Given the description of an element on the screen output the (x, y) to click on. 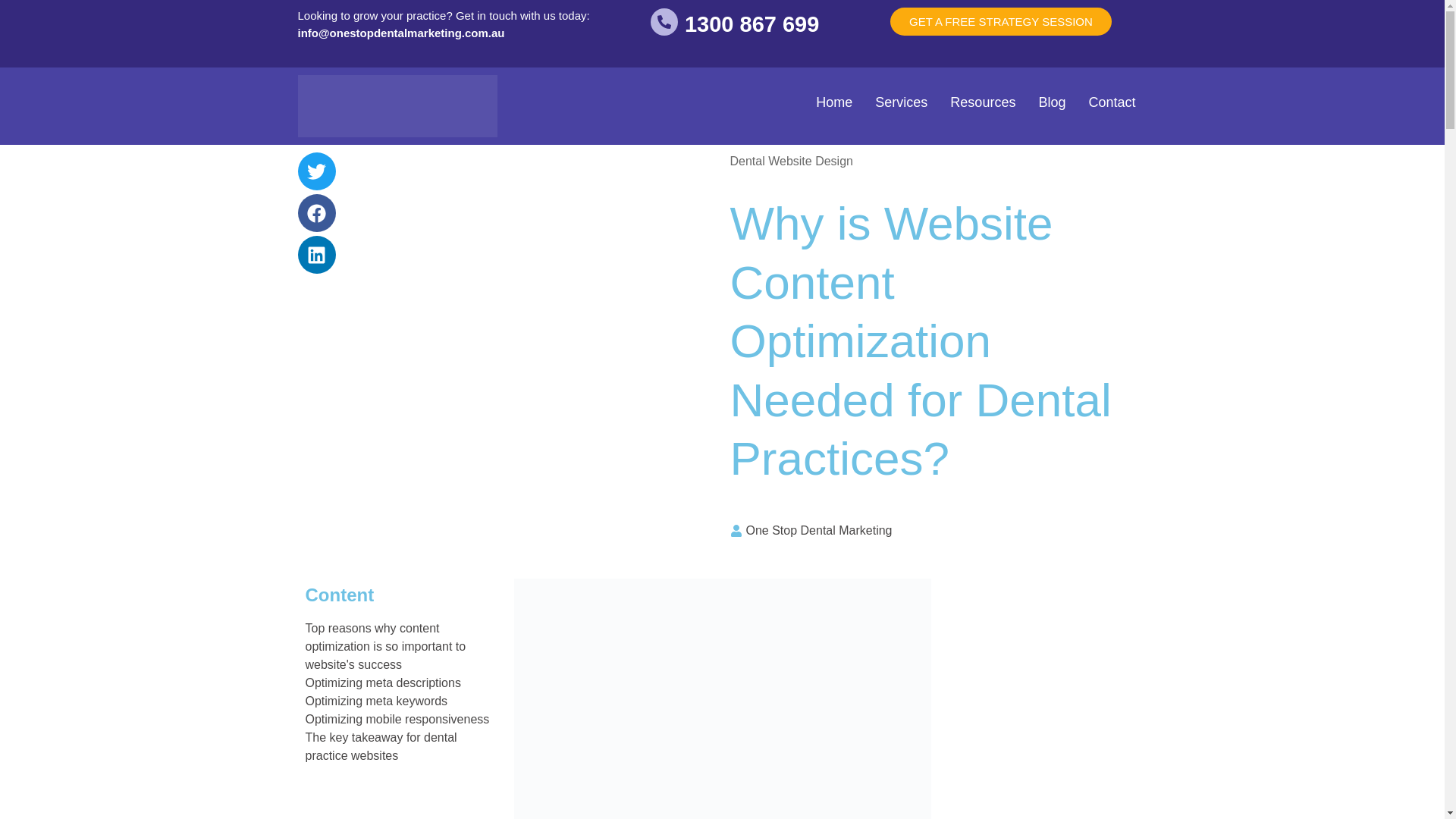
Contact (1112, 101)
1300 867 699 (751, 24)
Resources (982, 101)
Home (834, 101)
Services (901, 101)
GET A FREE STRATEGY SESSION (1000, 21)
Blog (1051, 101)
how-to-get-business-on-first-page-of-google (722, 698)
